Given the description of an element on the screen output the (x, y) to click on. 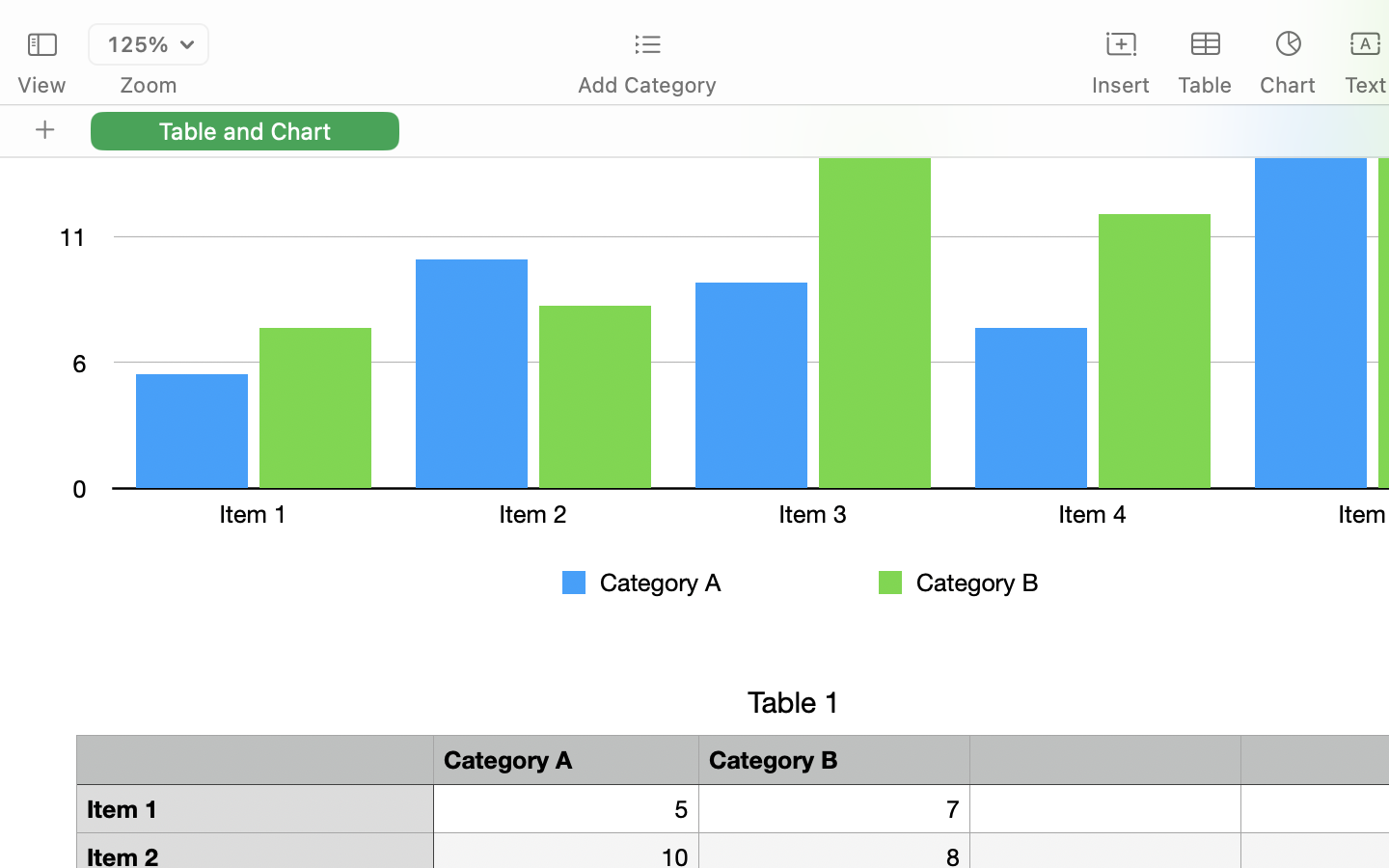
Add Category Element type: AXStaticText (646, 84)
Insert Element type: AXStaticText (1120, 84)
